Given the description of an element on the screen output the (x, y) to click on. 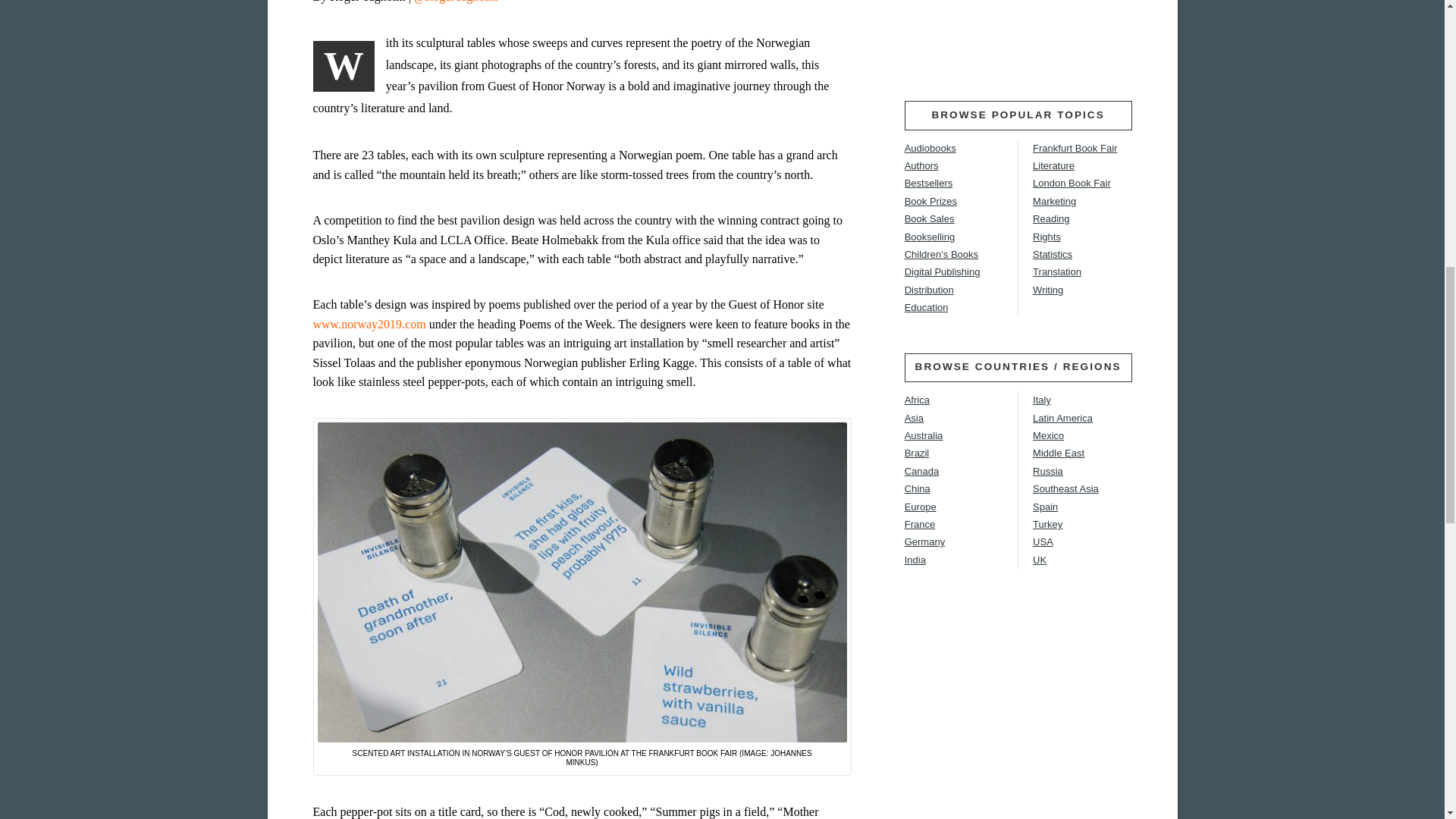
www.norway2019.com (369, 323)
